Given the description of an element on the screen output the (x, y) to click on. 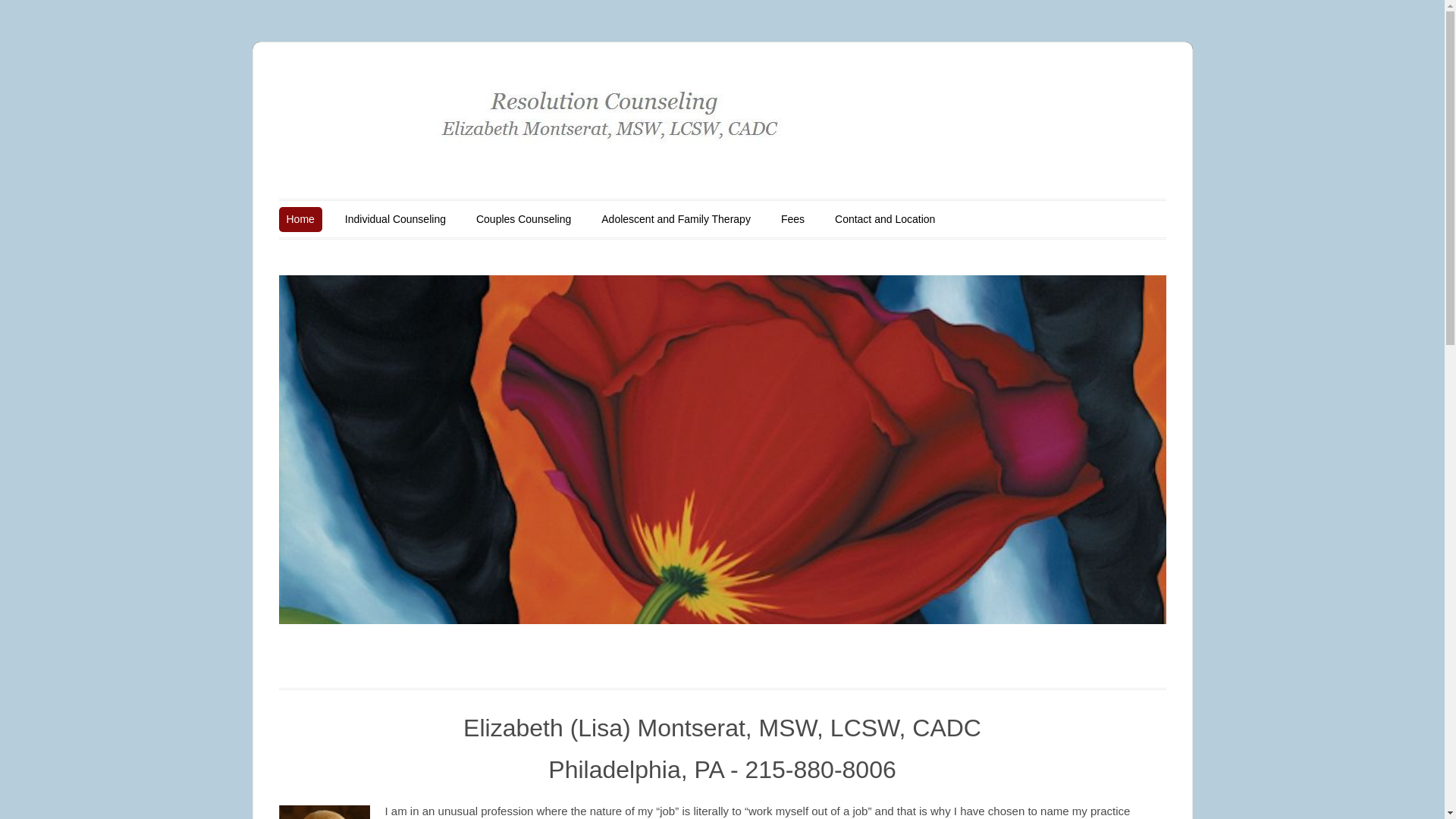
Couples Counseling (523, 218)
Contact and Location (884, 218)
Individual Counseling (394, 218)
Home (300, 218)
Fees (792, 218)
Adolescent and Family Therapy (676, 218)
